Given the description of an element on the screen output the (x, y) to click on. 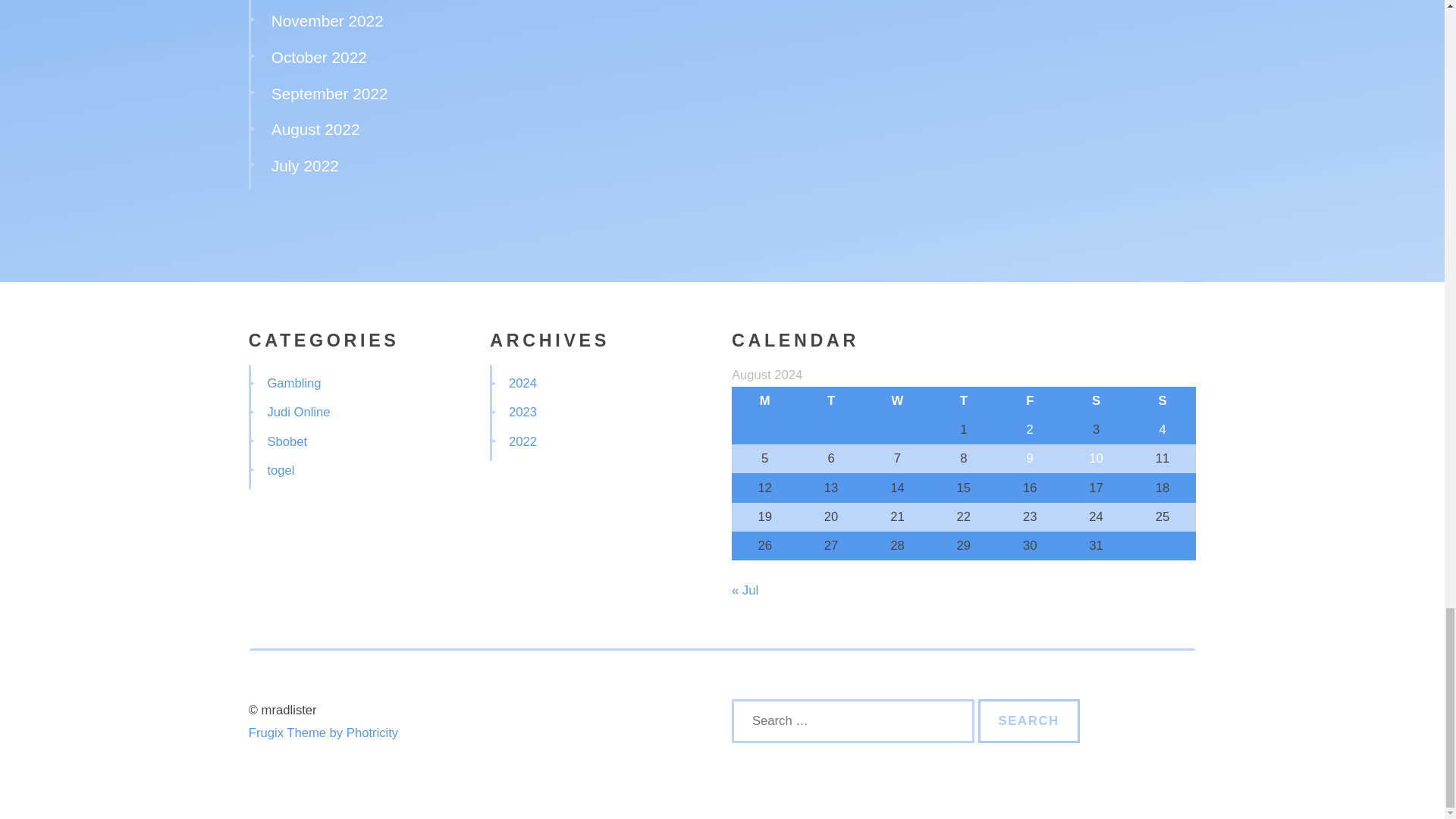
Thursday (962, 400)
Sunday (1162, 400)
July 2022 (304, 165)
Search (1029, 720)
October 2022 (318, 57)
August 2022 (314, 129)
Search (1029, 720)
September 2022 (329, 92)
Friday (1029, 400)
Wednesday (897, 400)
